Given the description of an element on the screen output the (x, y) to click on. 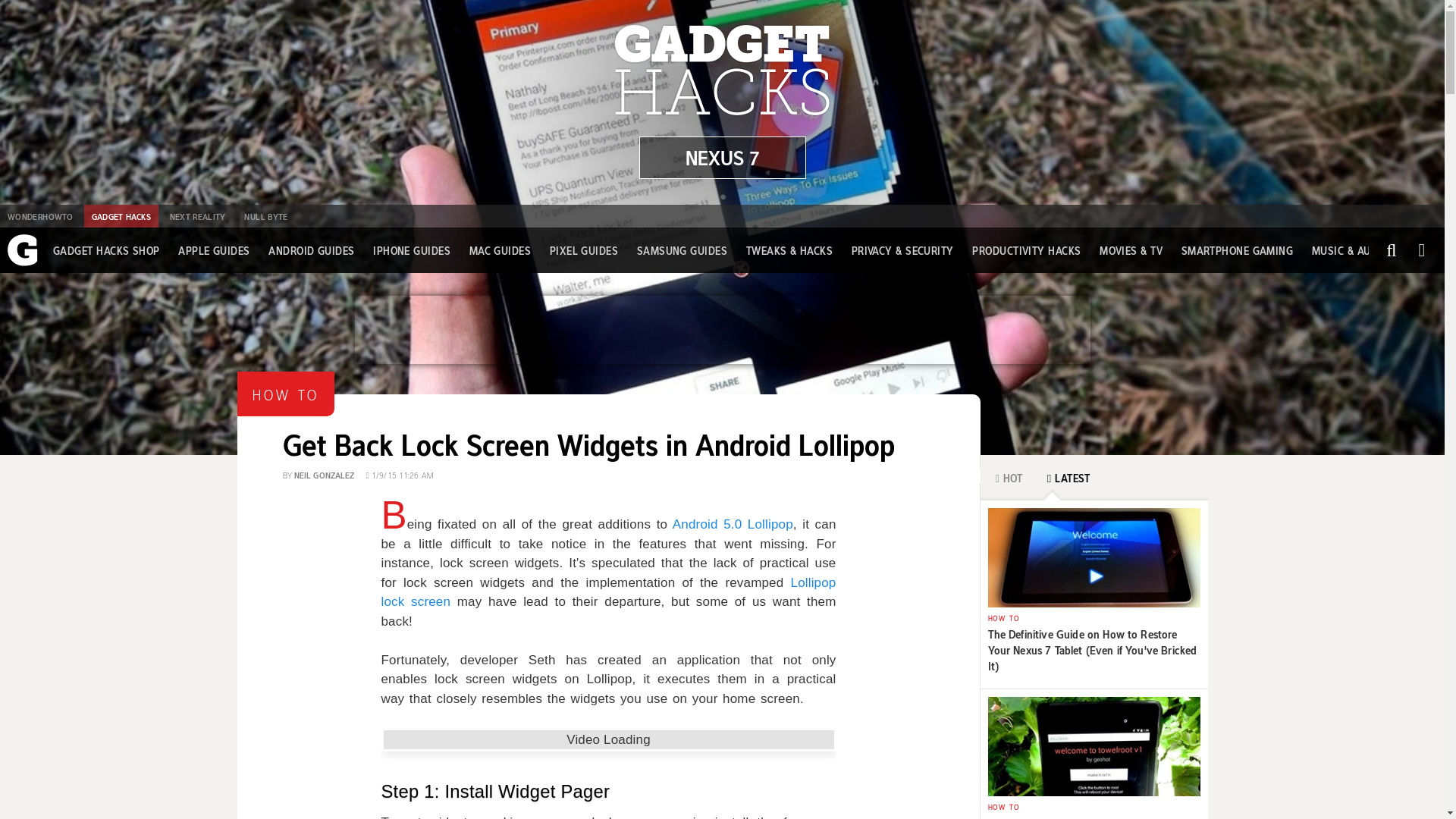
MAC GUIDES (499, 249)
SMARTPHONE GAMING (1237, 249)
GADGET HACKS SHOP (106, 249)
PRODUCTIVITY HACKS (1026, 249)
Lollipop lock screen (607, 592)
NEXUS 7 (722, 157)
Unchain your Google Nexus 7 for ultimate customization (722, 157)
IPHONE GUIDES (410, 249)
Android 5.0 Lollipop (732, 523)
NEIL GONZALEZ (324, 473)
